Given the description of an element on the screen output the (x, y) to click on. 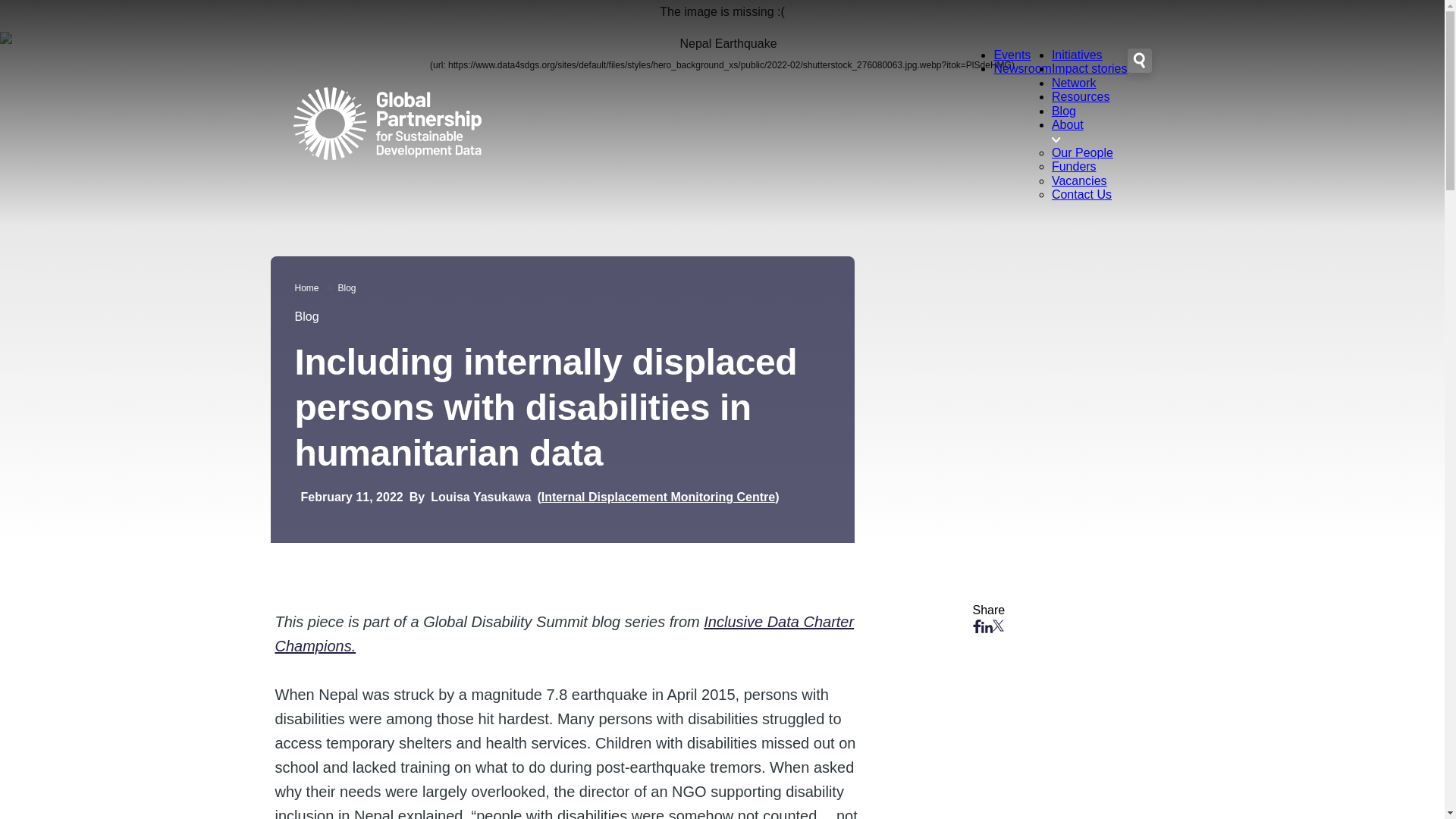
Inclusive Data Charter Champions. (564, 633)
About (1067, 124)
Home (306, 287)
Vacancies (1078, 180)
Initiatives (1076, 54)
Our People (1082, 152)
Apply (31, 230)
Network (1073, 82)
Blog (346, 287)
